Given the description of an element on the screen output the (x, y) to click on. 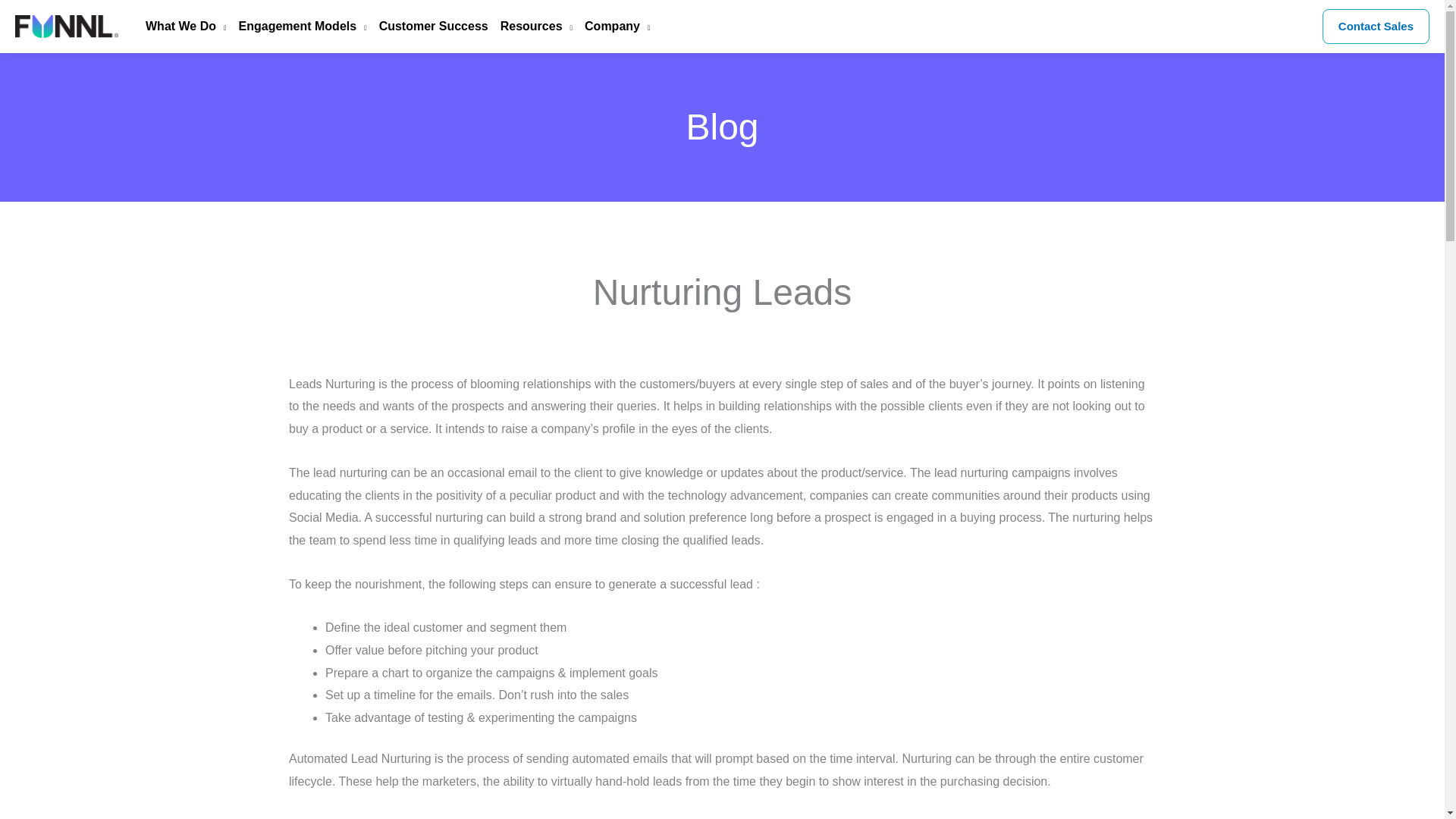
Resources (529, 26)
Engagement Models (296, 26)
Company (610, 26)
What We Do (180, 26)
Contact Sales (1375, 26)
Customer Success (426, 26)
